Given the description of an element on the screen output the (x, y) to click on. 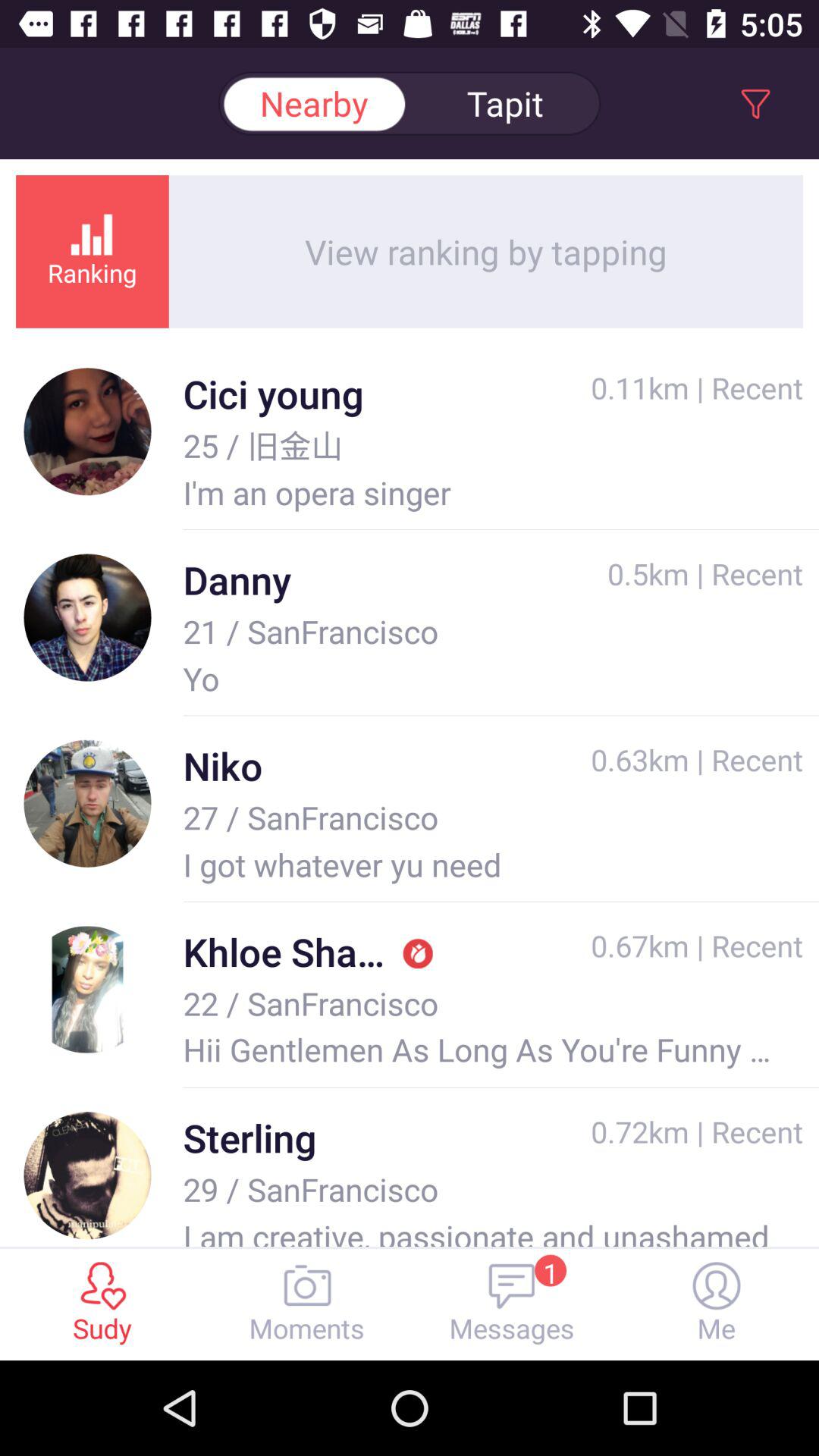
click on the nearby option (313, 103)
click on the option tapit beside nearby (504, 103)
click on the image beside the text sterling (87, 1175)
